Given the description of an element on the screen output the (x, y) to click on. 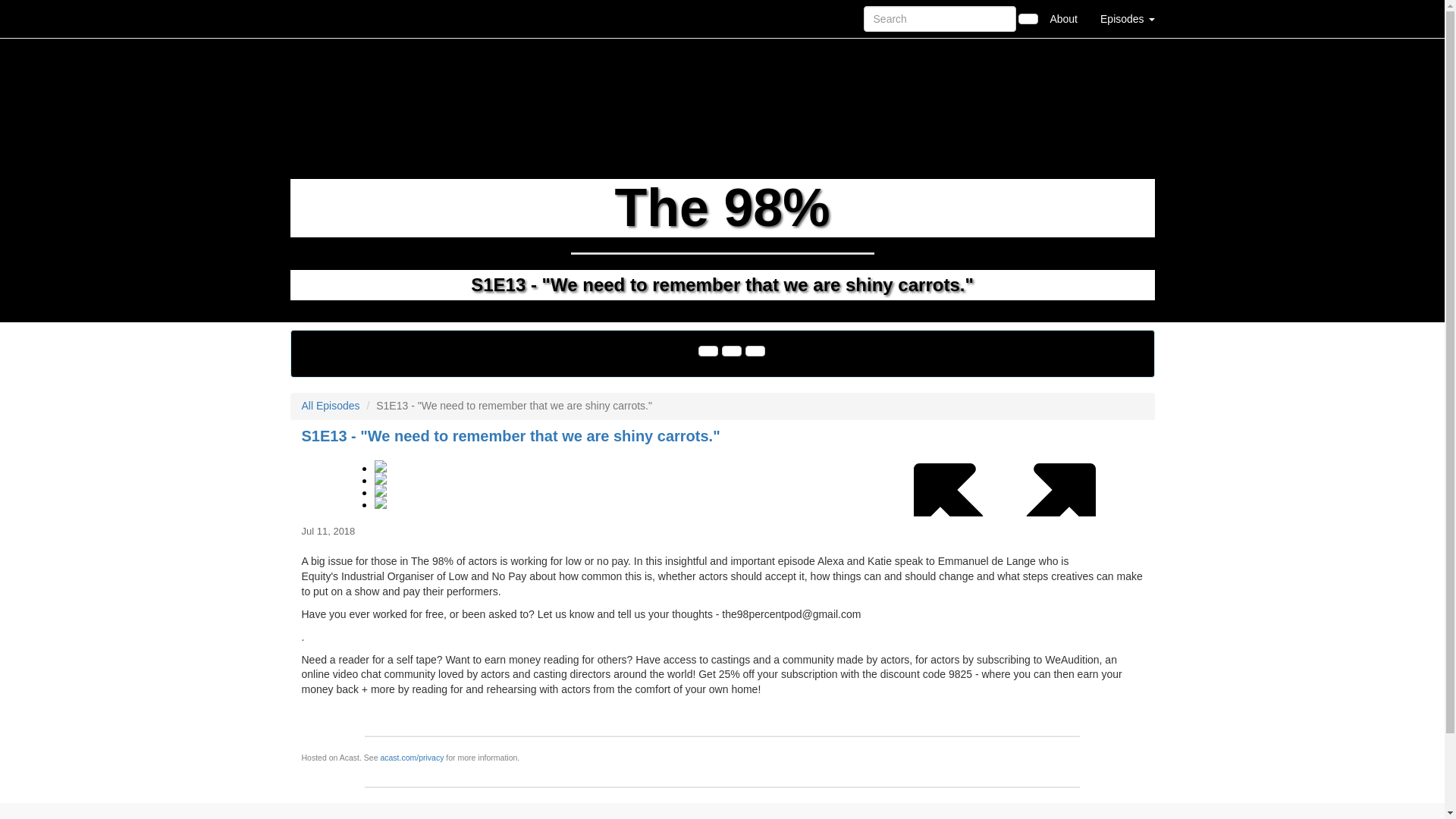
Episodes (1127, 18)
About (1063, 18)
S1E13 - "We need to remember that we are shiny carrots." (721, 481)
Home Page (320, 18)
